Given the description of an element on the screen output the (x, y) to click on. 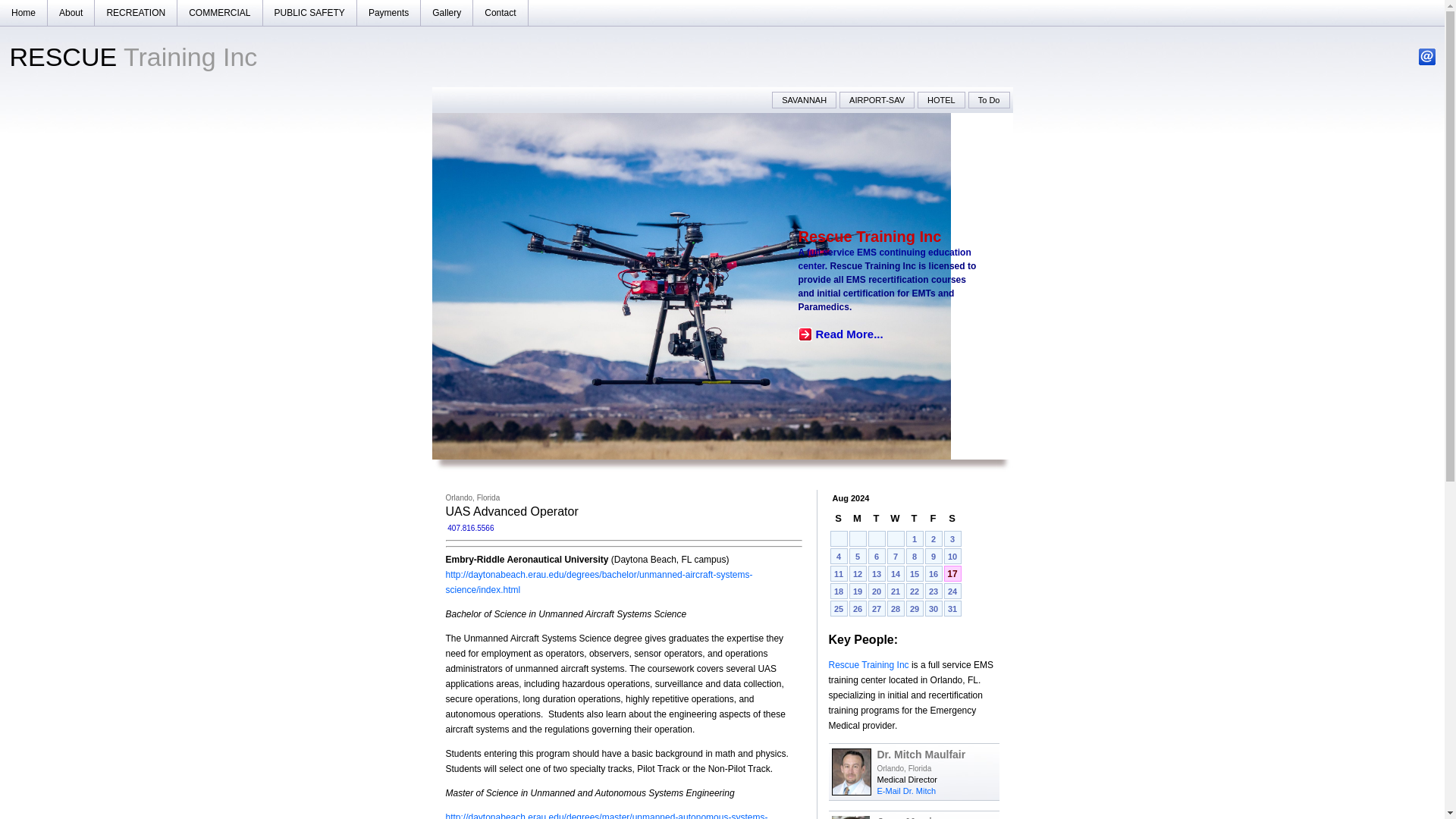
AIRPORT-SAV (877, 99)
About (71, 12)
Contact (500, 12)
HOTEL (941, 99)
SAVANNAH (803, 99)
Read More... (839, 333)
COMMERCIAL (219, 12)
To Do (989, 99)
Gallery (446, 12)
E-Mail Dr. Mitch (906, 790)
